Given the description of an element on the screen output the (x, y) to click on. 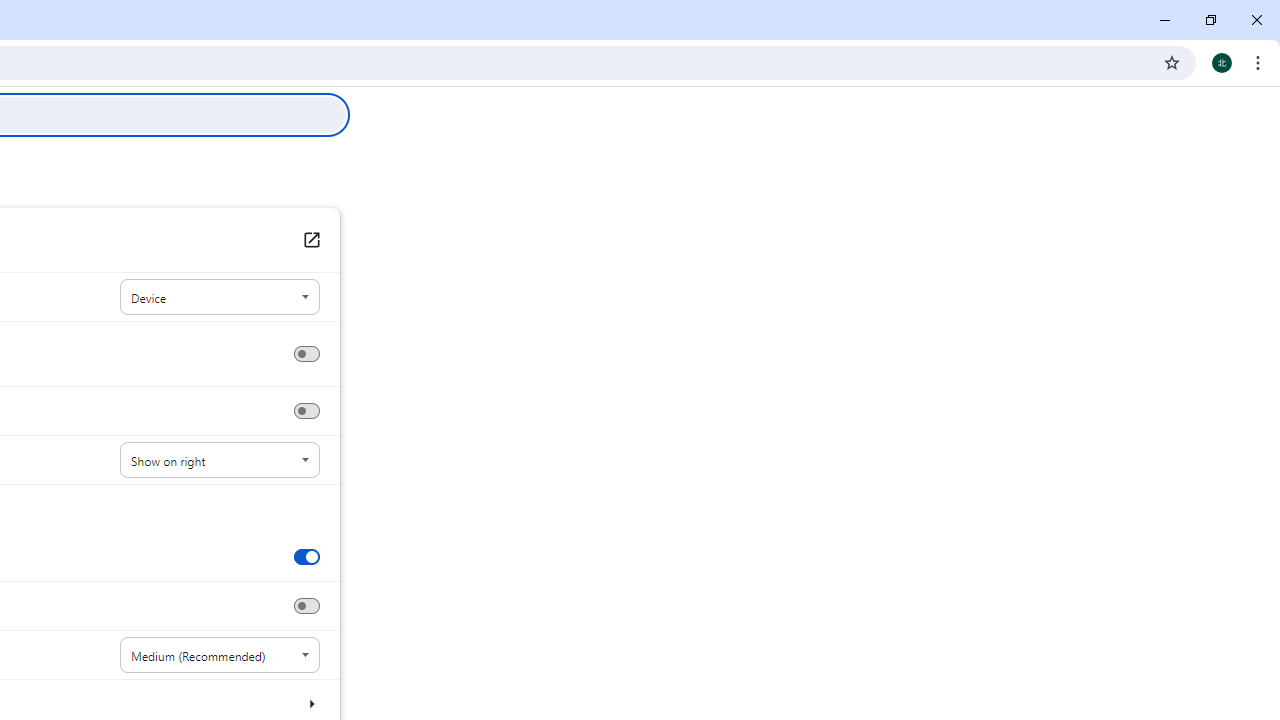
Minimize (1165, 20)
Font size (219, 655)
Chrome (1260, 62)
Show bookmarks bar (306, 411)
Theme Open Chrome Web Store (310, 240)
Restore (1210, 20)
Customize fonts (310, 703)
Side panel position (219, 460)
Show tab preview images (306, 556)
Bookmark this tab (1171, 62)
Show tab memory usage (306, 606)
Show home button (306, 354)
Mode (219, 297)
Close (1256, 20)
